Given the description of an element on the screen output the (x, y) to click on. 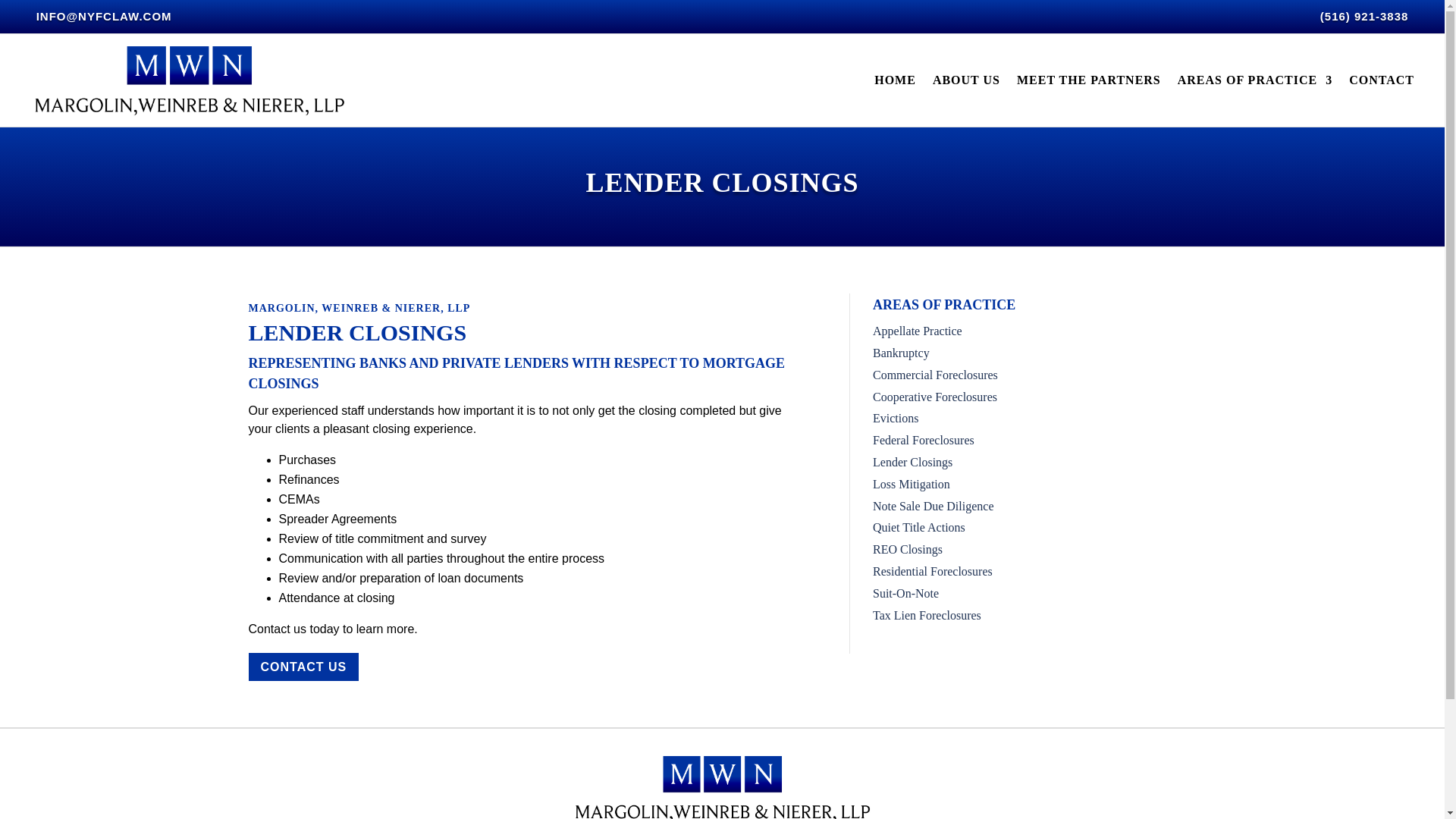
AREAS OF PRACTICE (1254, 79)
MEET THE PARTNERS (1088, 79)
MW Logo (721, 785)
